Given the description of an element on the screen output the (x, y) to click on. 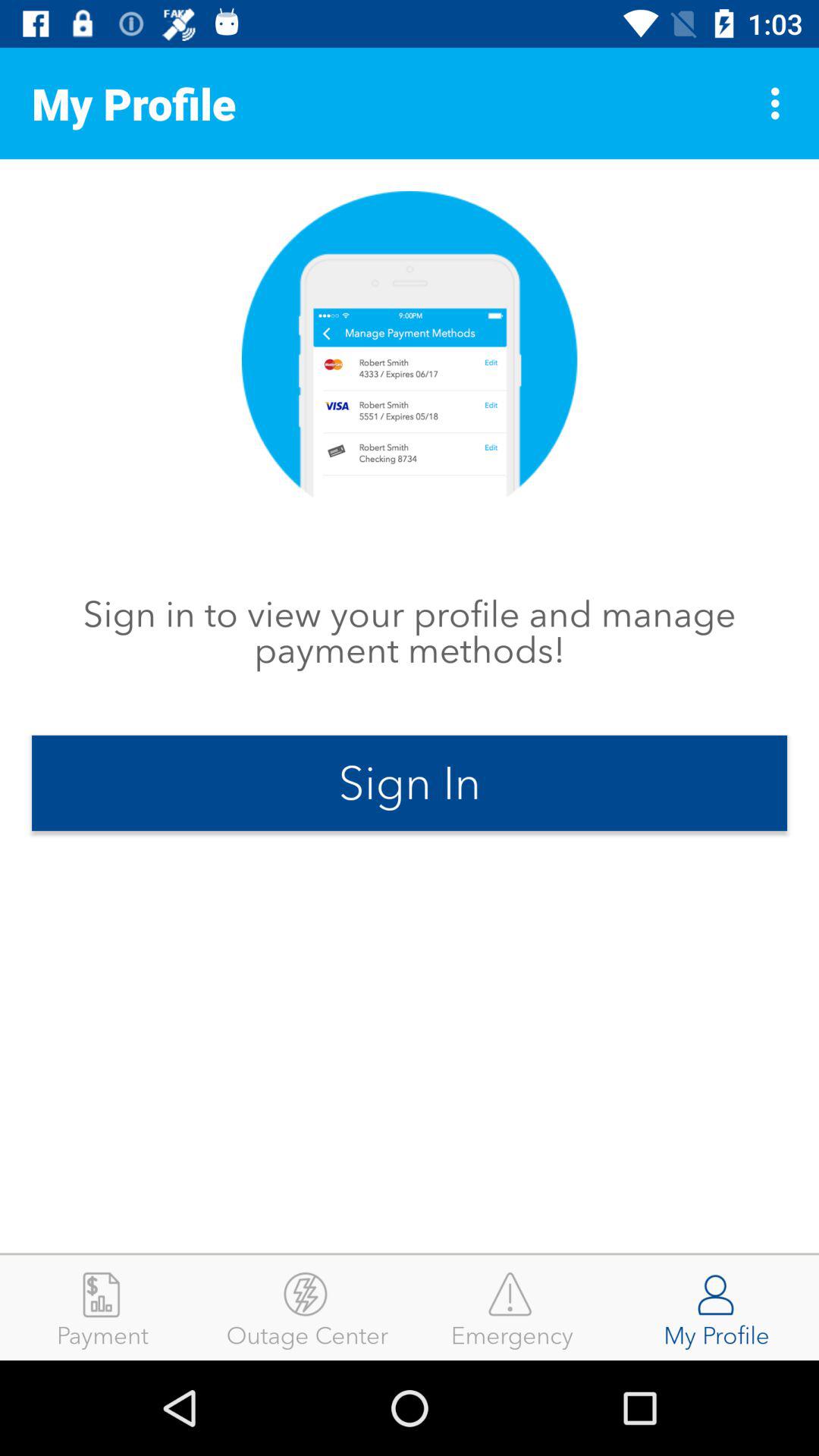
click icon next to my profile item (779, 103)
